Given the description of an element on the screen output the (x, y) to click on. 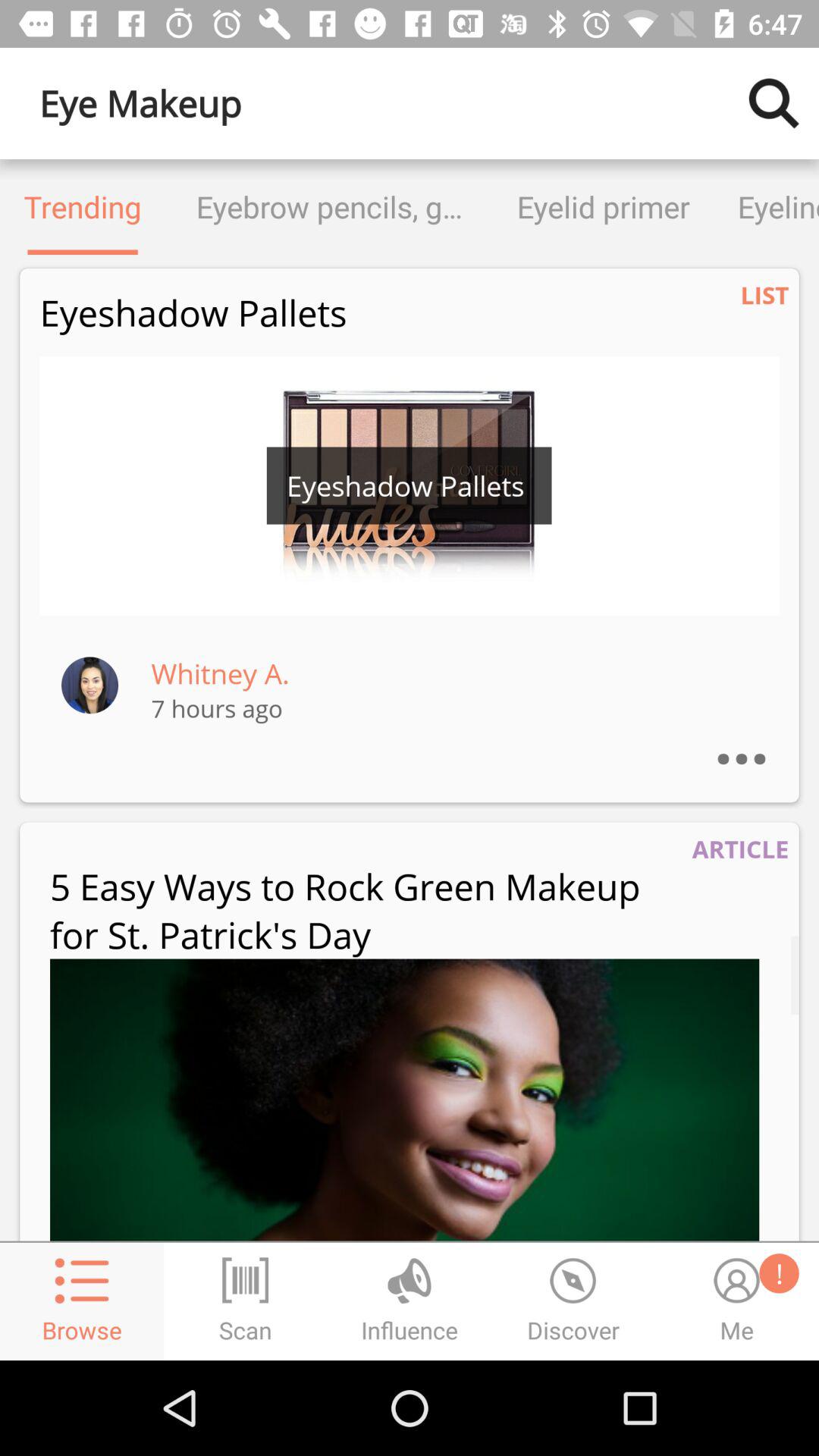
flip until eyeliner icon (766, 206)
